Given the description of an element on the screen output the (x, y) to click on. 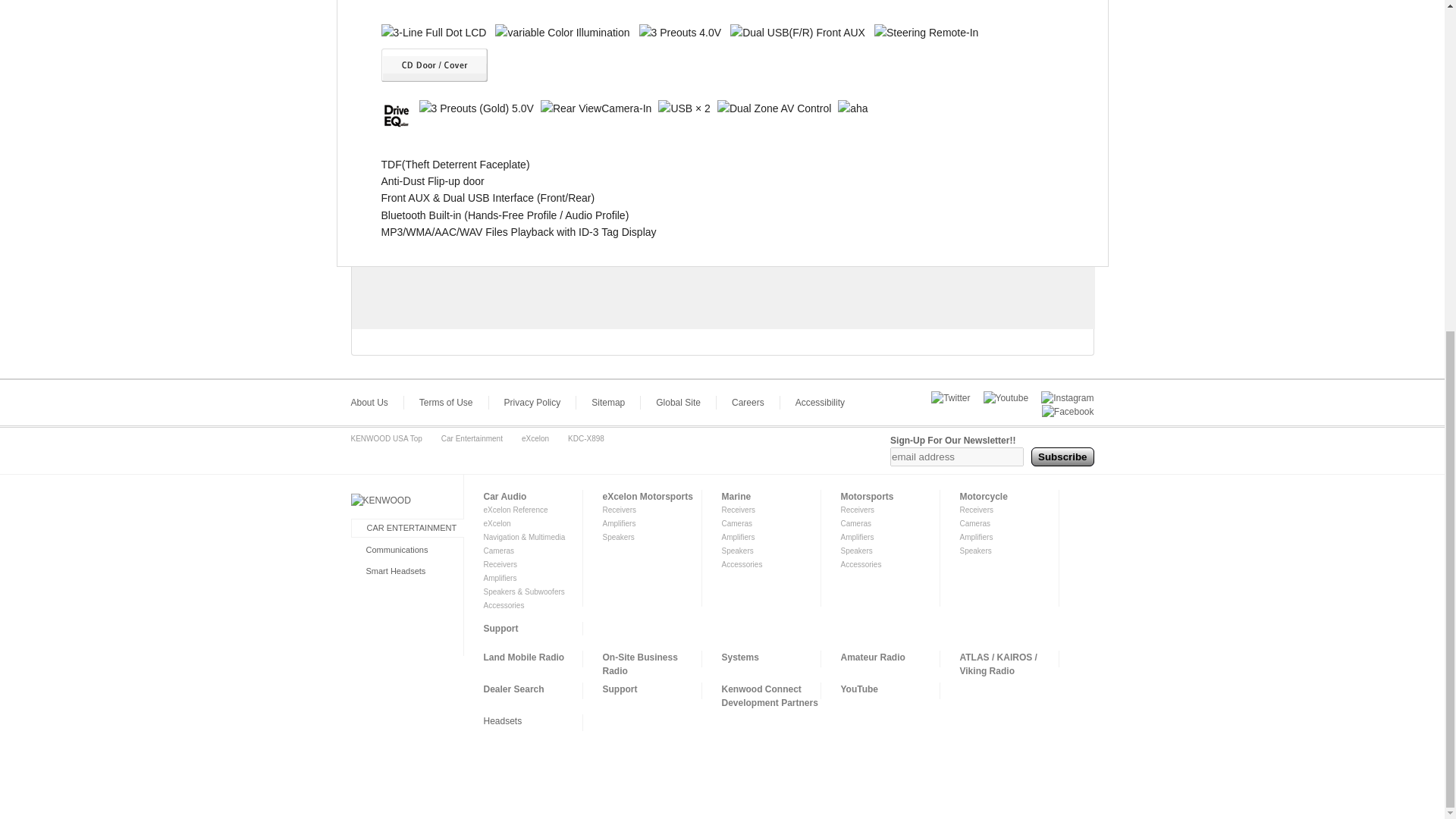
Subscribe (1061, 456)
